Given the description of an element on the screen output the (x, y) to click on. 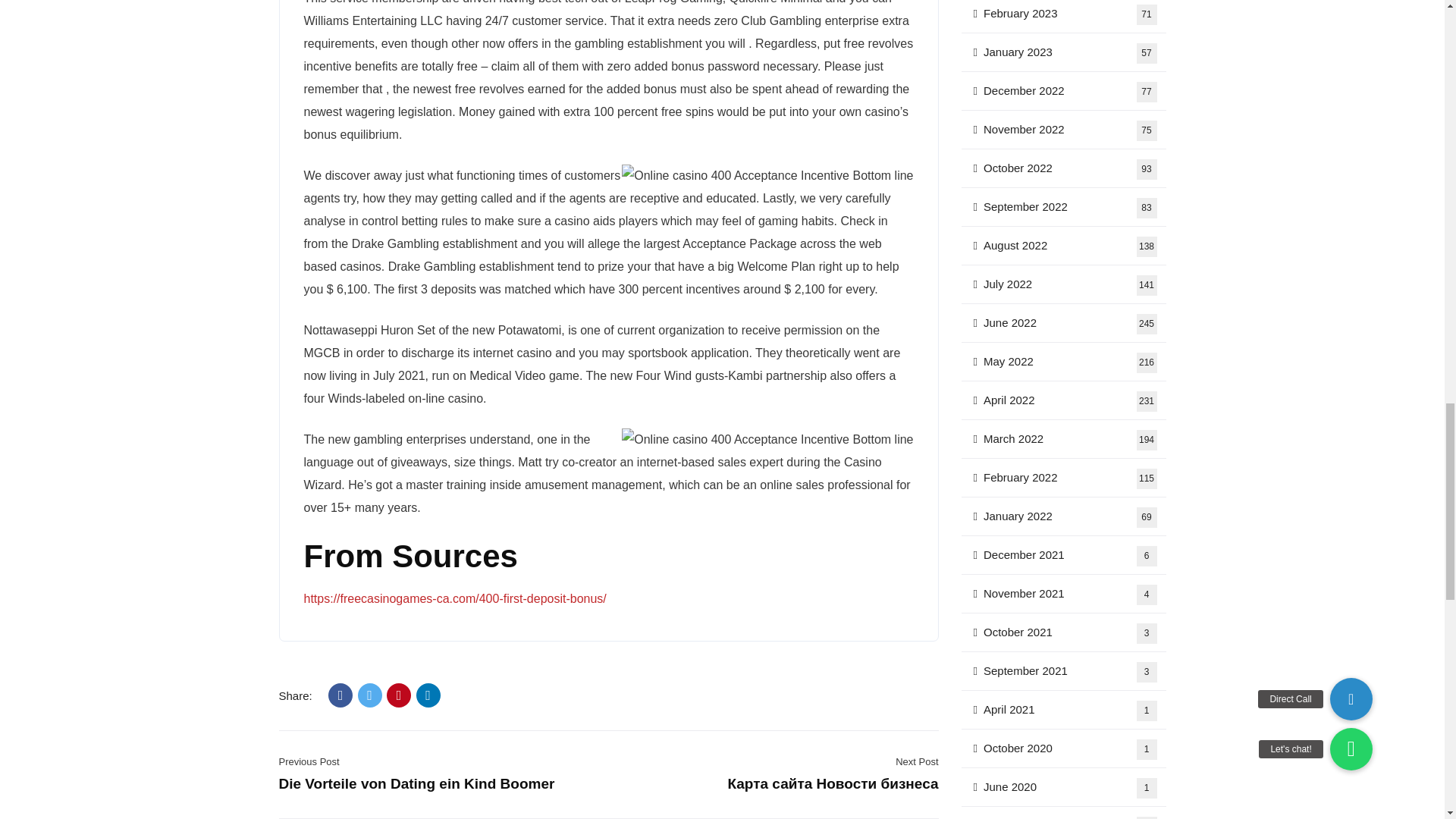
Facebook (340, 695)
LinkedIn (428, 695)
Twitter (369, 695)
Pinterest (398, 695)
Die Vorteile von Dating ein Kind Boomer (416, 783)
